Given the description of an element on the screen output the (x, y) to click on. 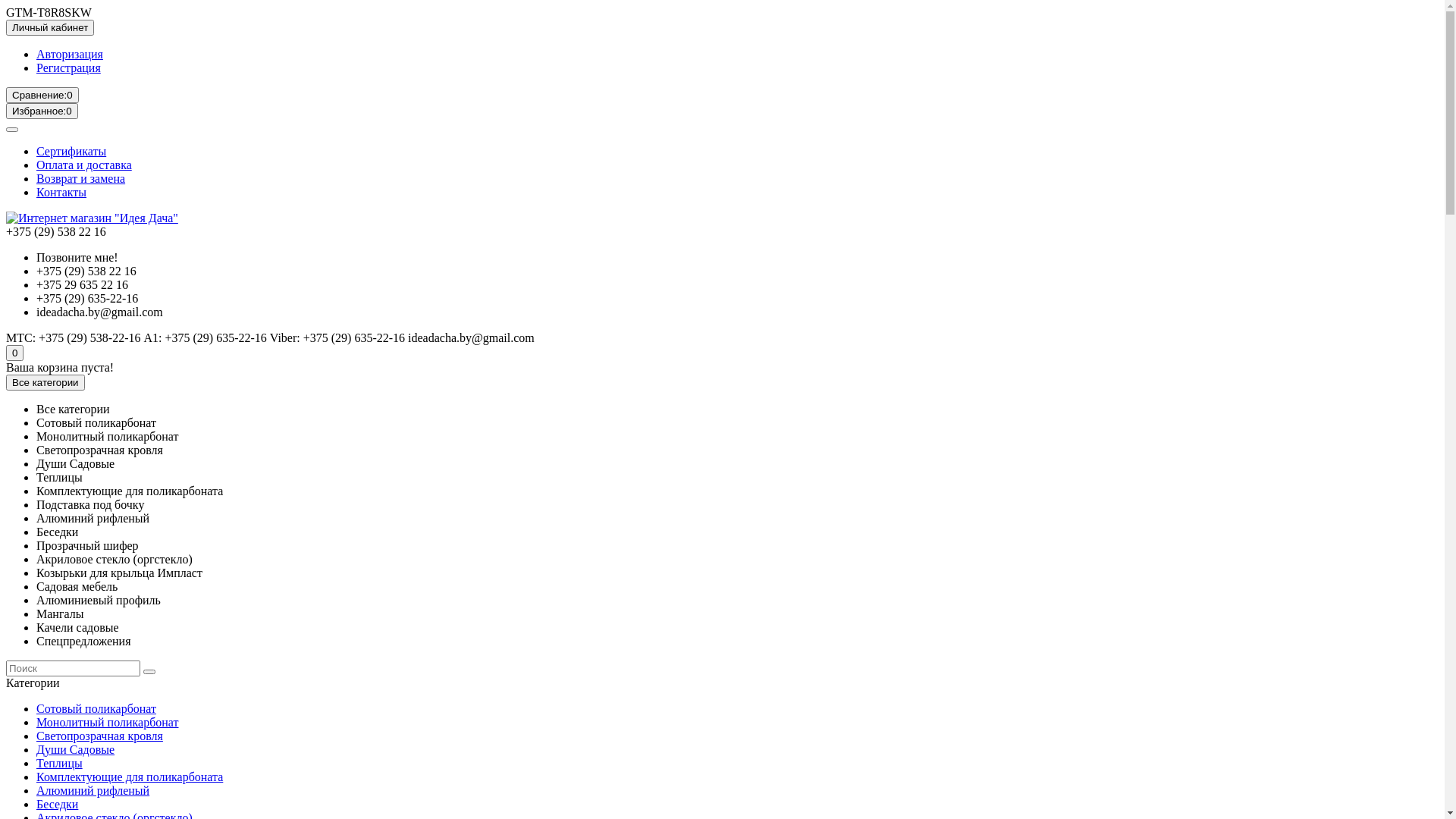
+375 (29) 635-22-16 Element type: text (87, 297)
+375 (29) 538 22 16 Element type: text (86, 270)
ideadacha.by@gmail.com Element type: text (99, 311)
0 Element type: text (14, 352)
+375 29 635 22 16 Element type: text (82, 284)
